Given the description of an element on the screen output the (x, y) to click on. 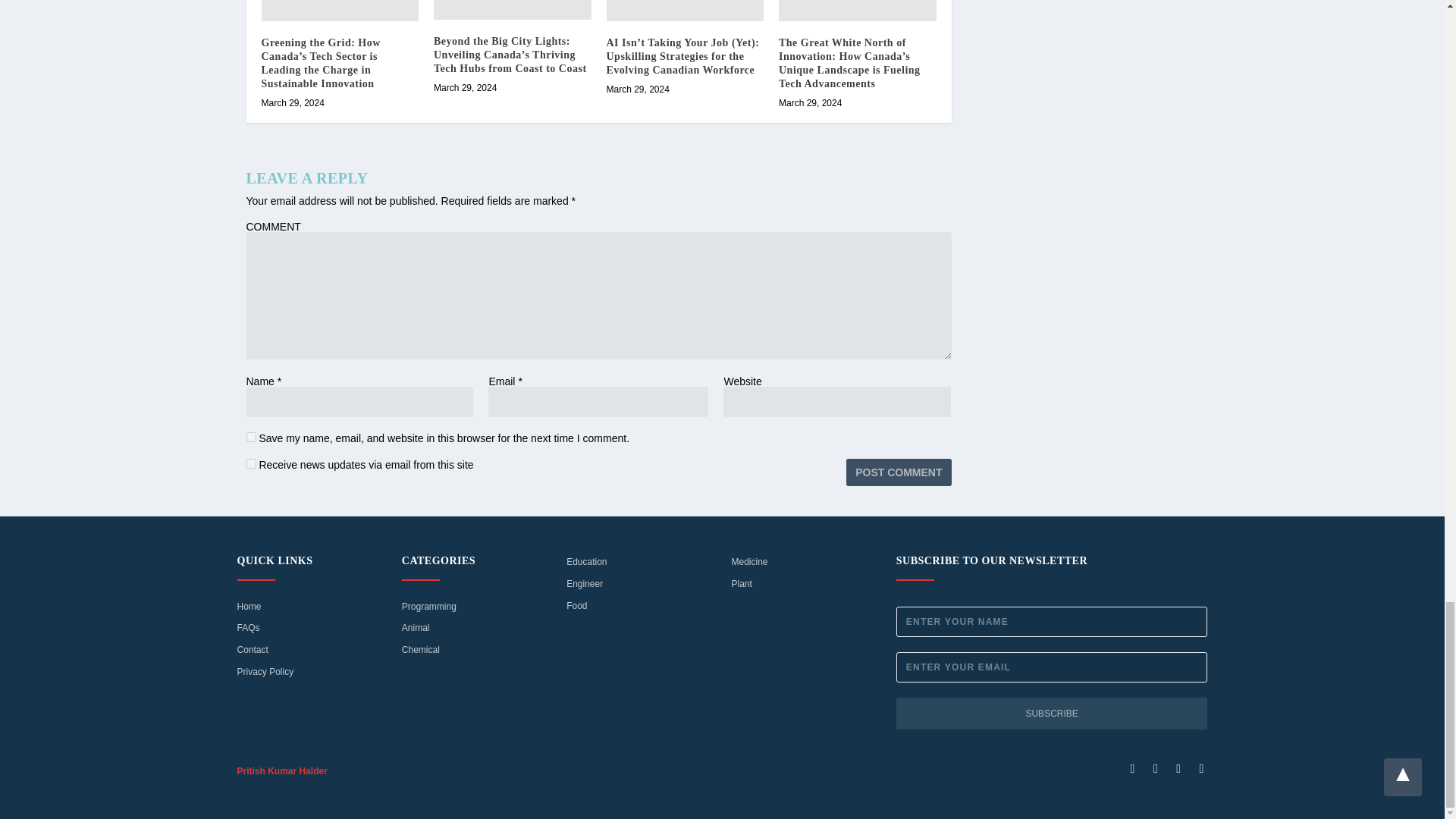
yes (251, 437)
Post Comment (897, 472)
Subscribe (1052, 713)
1 (251, 463)
